Given the description of an element on the screen output the (x, y) to click on. 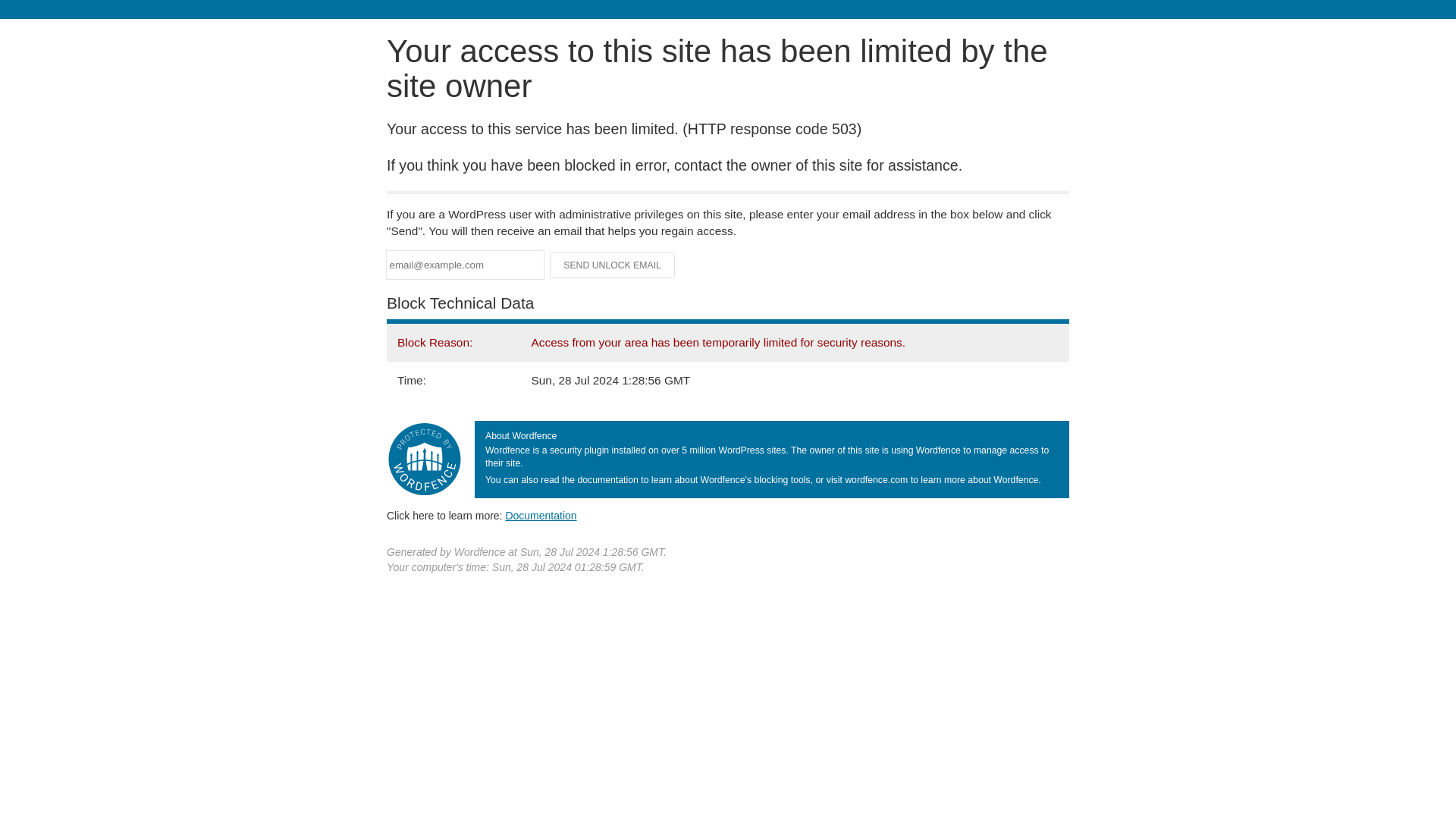
Send Unlock Email (612, 265)
Send Unlock Email (612, 265)
Documentation (540, 515)
